Given the description of an element on the screen output the (x, y) to click on. 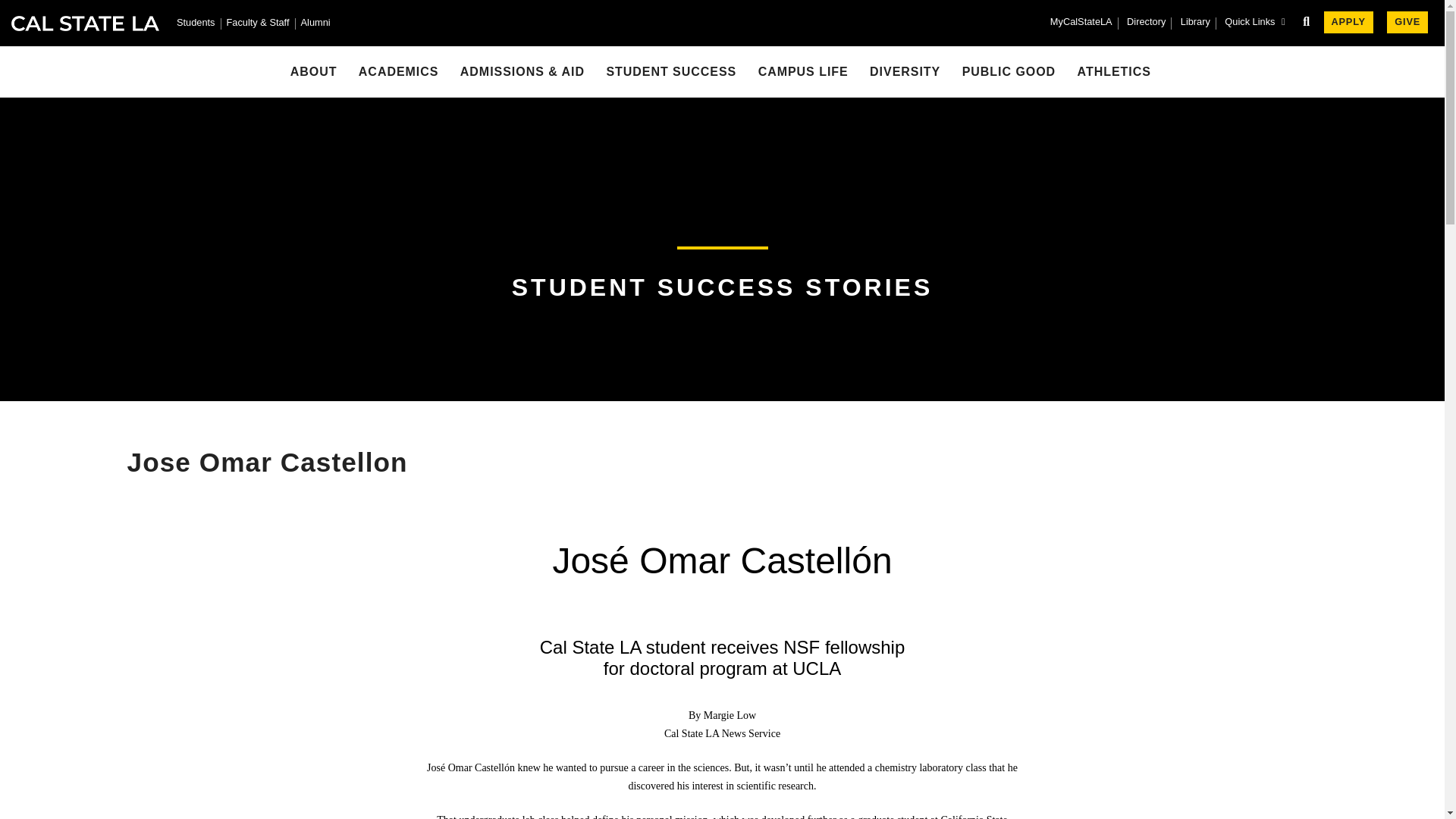
Alumni (314, 24)
ACADEMICS (398, 70)
Home (84, 22)
Students (195, 24)
ATHLETICS (1114, 70)
Library (1194, 23)
ABOUT (313, 70)
GIVE (1407, 22)
Directory (1146, 23)
DIVERSITY (904, 70)
